Given the description of an element on the screen output the (x, y) to click on. 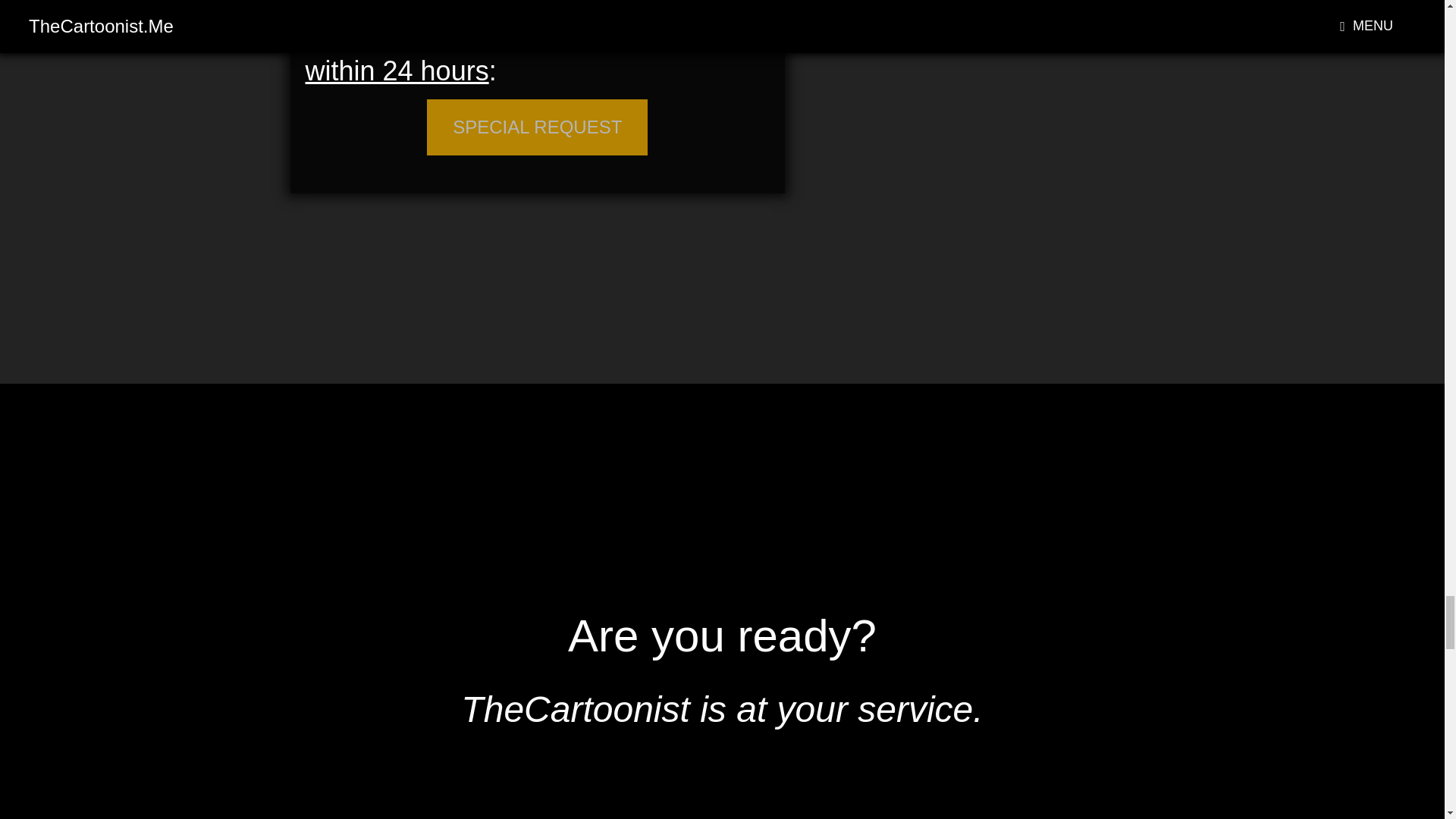
SPECIAL REQUEST (536, 127)
